Given the description of an element on the screen output the (x, y) to click on. 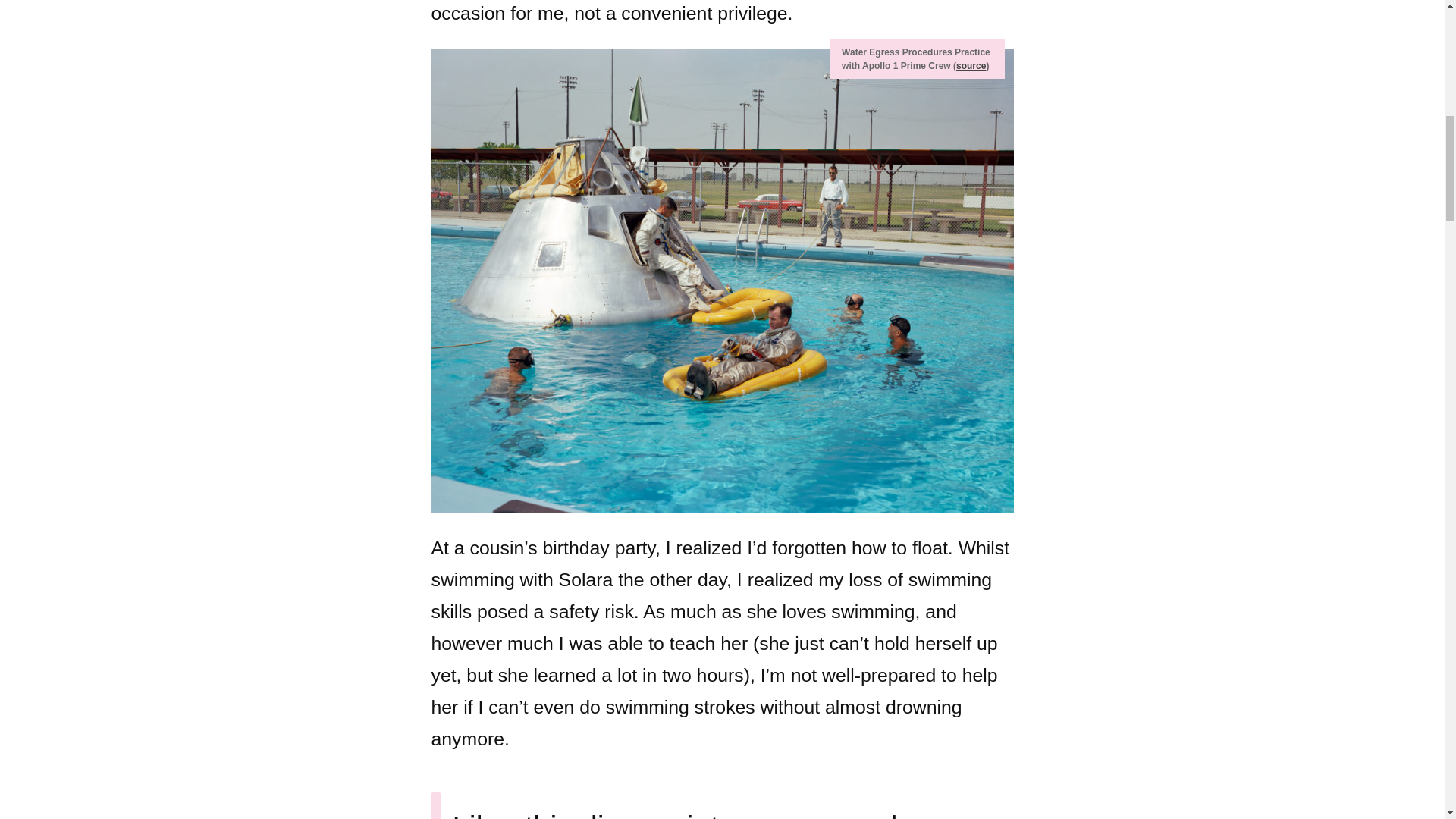
source (970, 65)
